Given the description of an element on the screen output the (x, y) to click on. 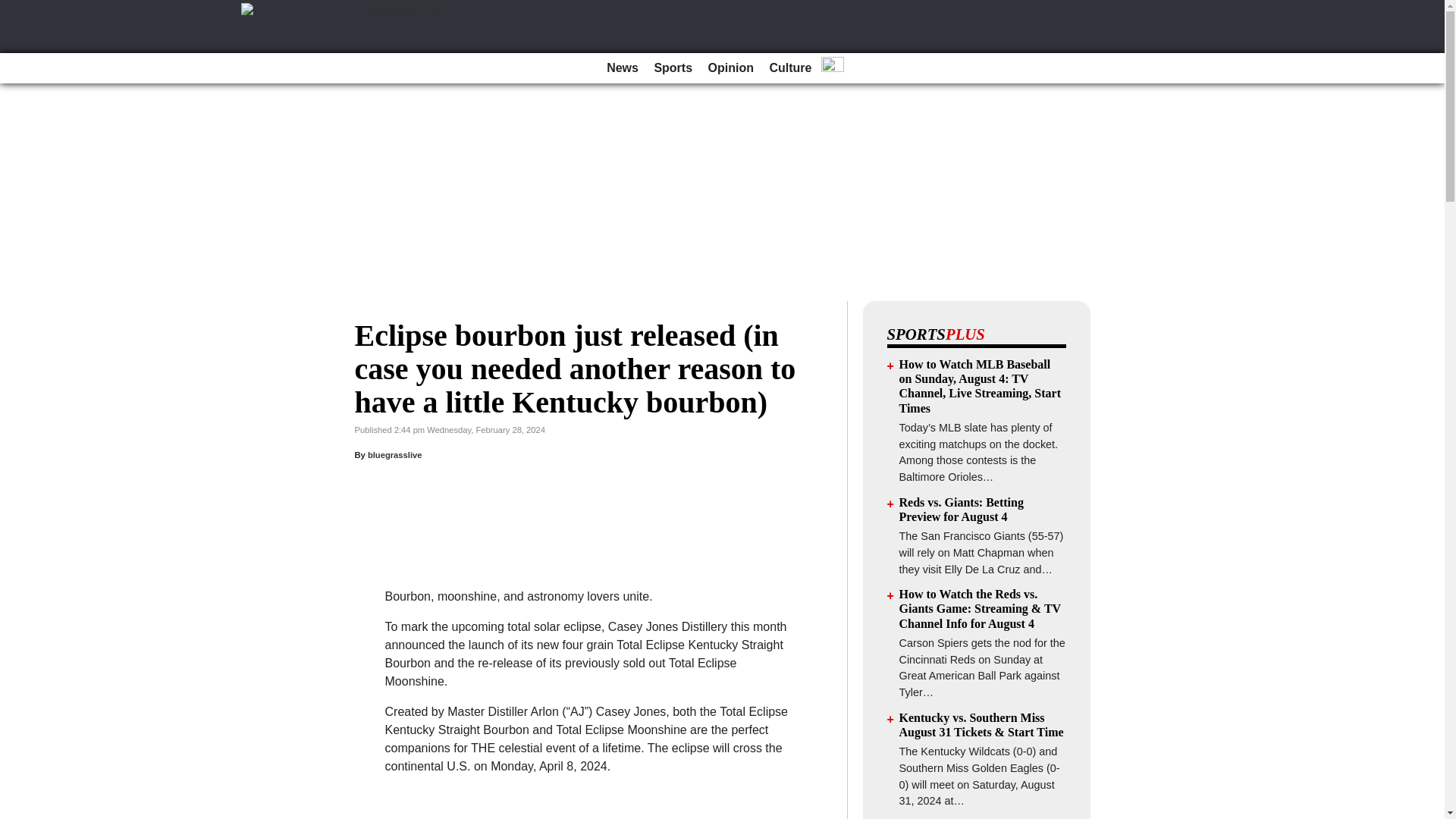
Opinion (730, 68)
Culture (789, 68)
Go (13, 9)
bluegrasslive (395, 454)
Reds vs. Giants: Betting Preview for August 4 (961, 509)
Sports (672, 68)
News (622, 68)
